Given the description of an element on the screen output the (x, y) to click on. 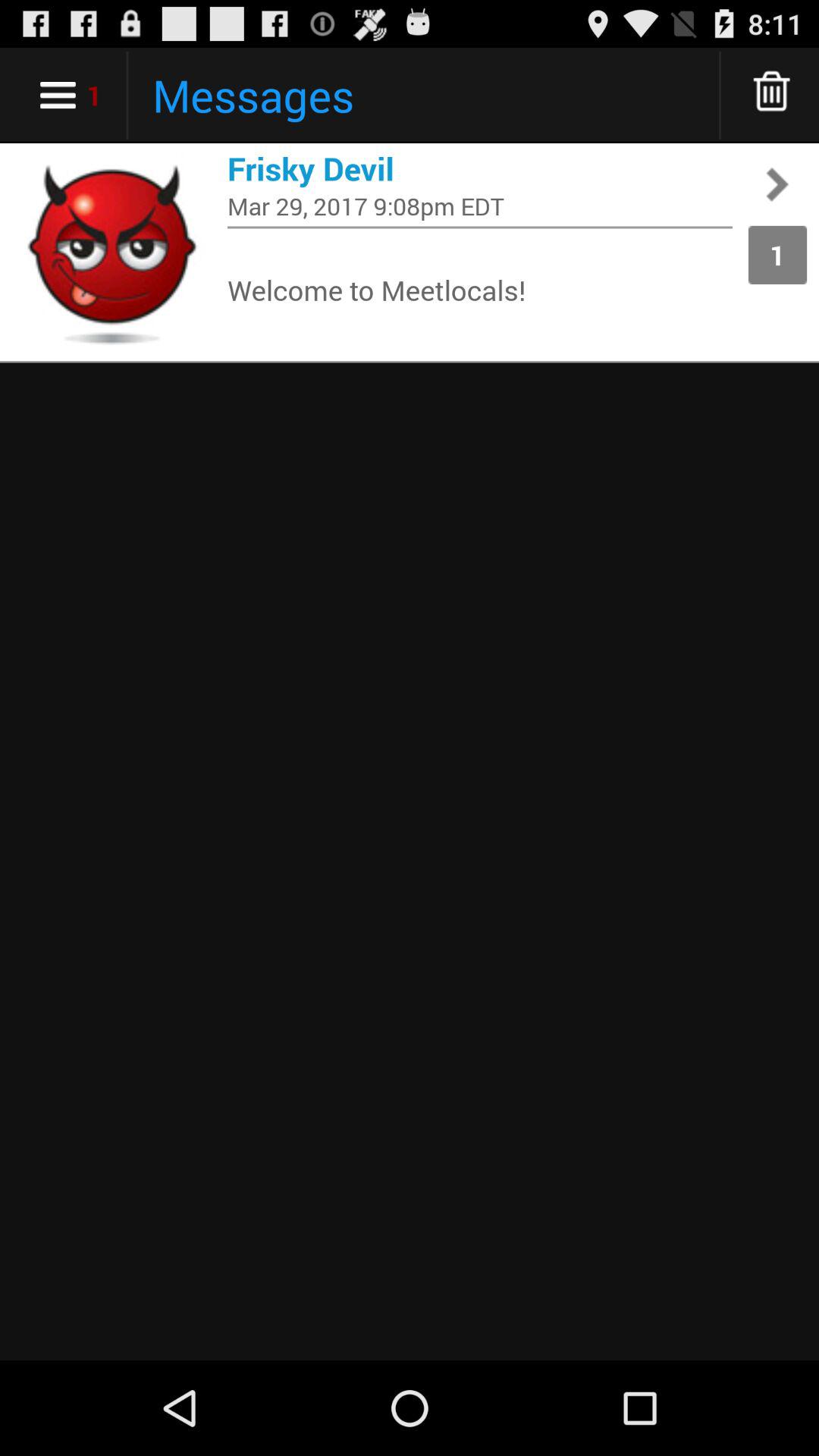
delete messages (772, 95)
